Given the description of an element on the screen output the (x, y) to click on. 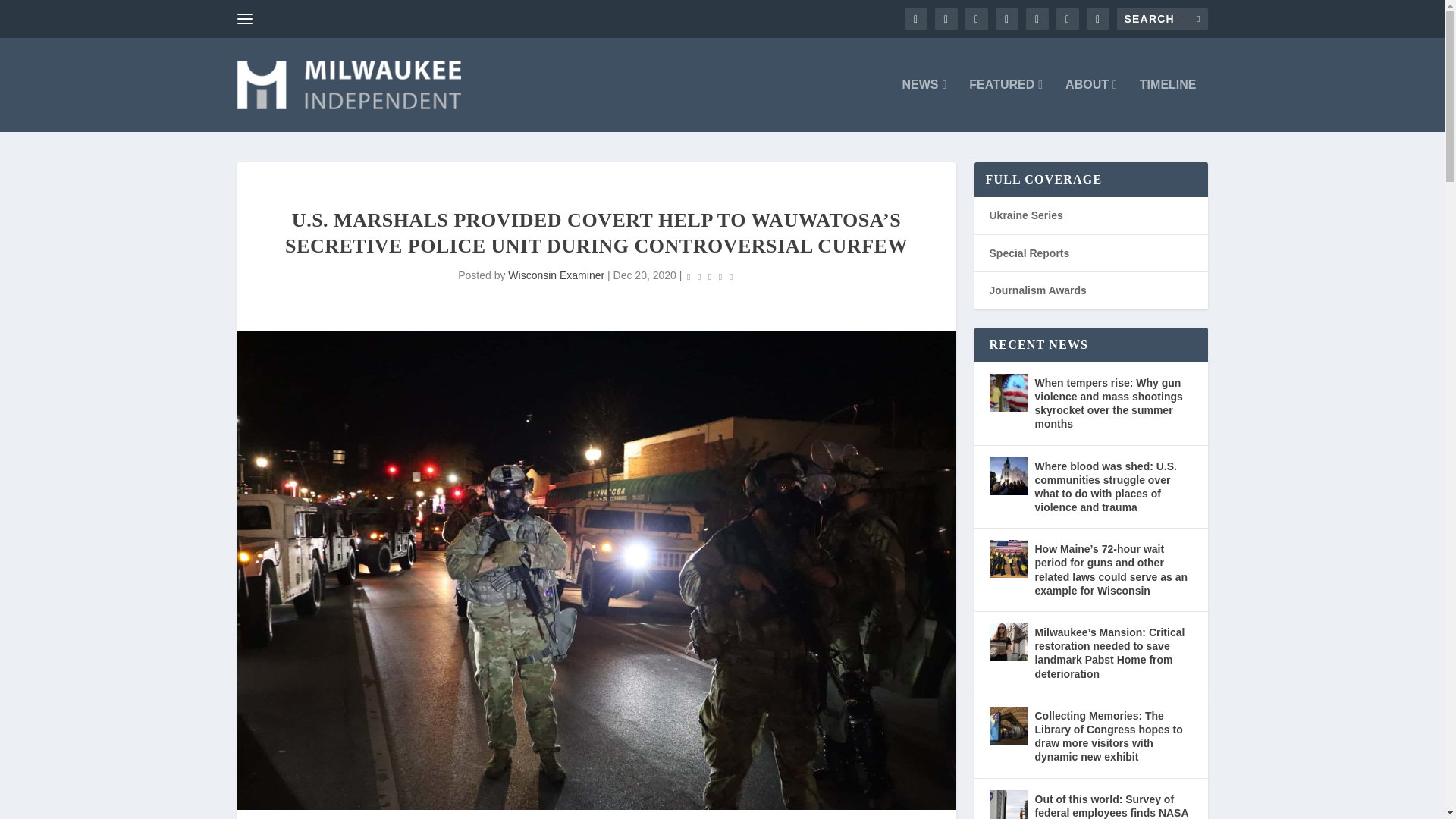
Posts by Wisconsin Examiner (556, 275)
ABOUT (1090, 104)
Search for: (1161, 18)
TIMELINE (1168, 104)
Rating: 0.00 (709, 275)
FEATURED (1005, 104)
